Given the description of an element on the screen output the (x, y) to click on. 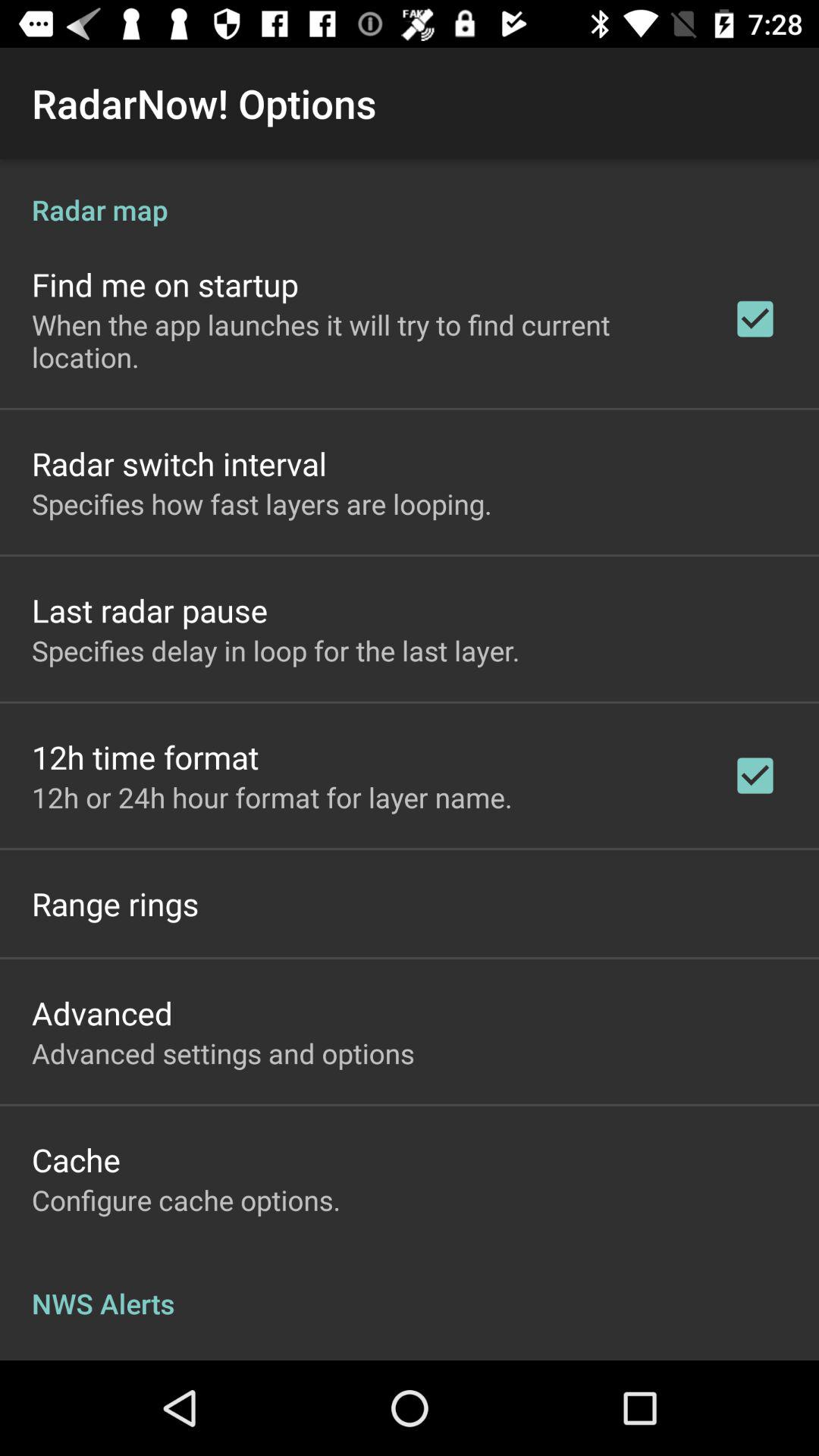
tap the app below the specifies how fast item (149, 609)
